Given the description of an element on the screen output the (x, y) to click on. 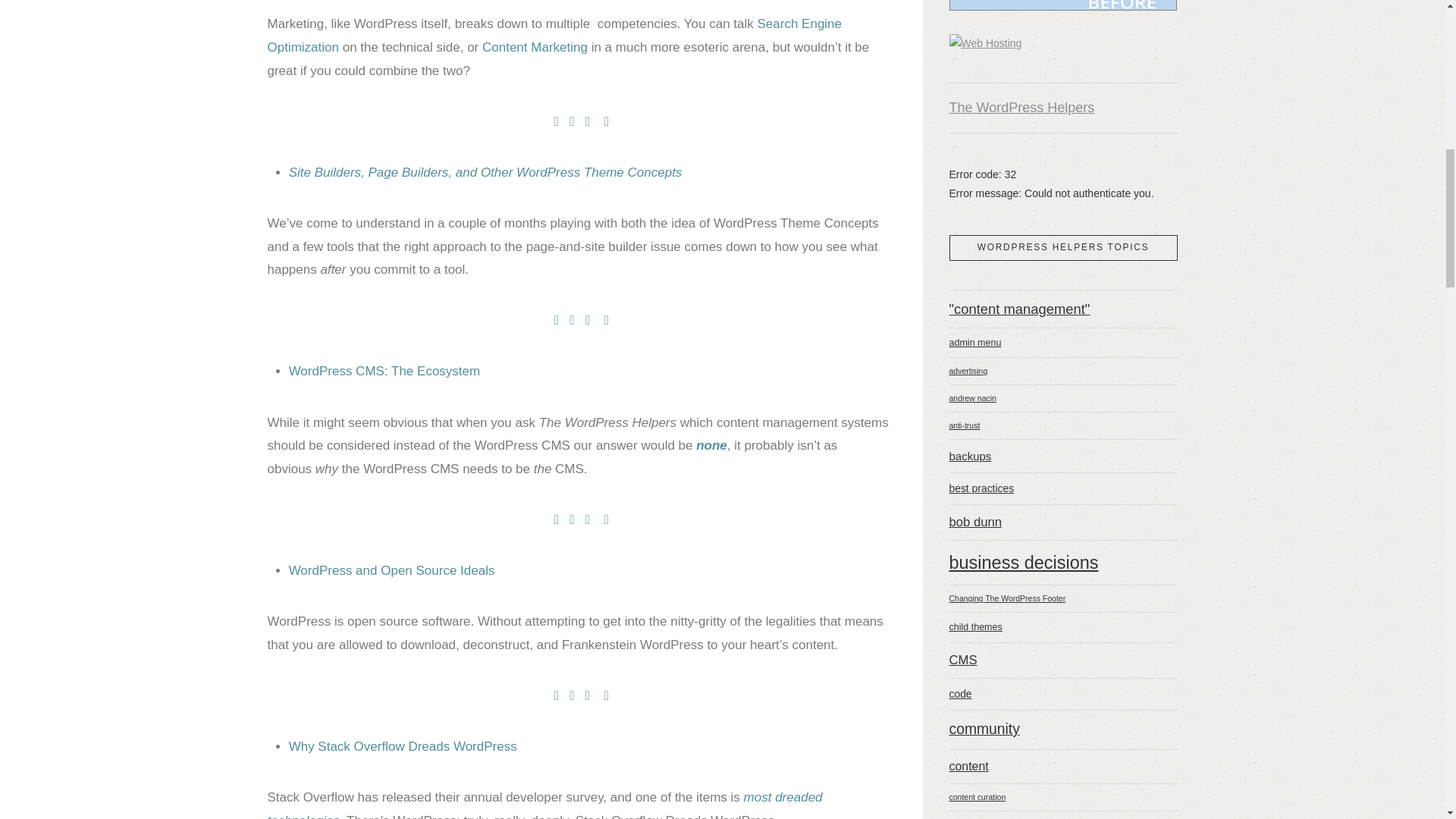
When Should You Use WordPress? (710, 445)
WordPress Sitebuilders and Theme Concepts (485, 172)
Why Stack Overflow Dreads WordPress (402, 746)
WordPress Open Source Ideals (391, 570)
WordPress Content Marketing (534, 47)
The WordPress CMS Ecosystem (384, 370)
WordPress Search Engine Optimization (553, 35)
